Given the description of an element on the screen output the (x, y) to click on. 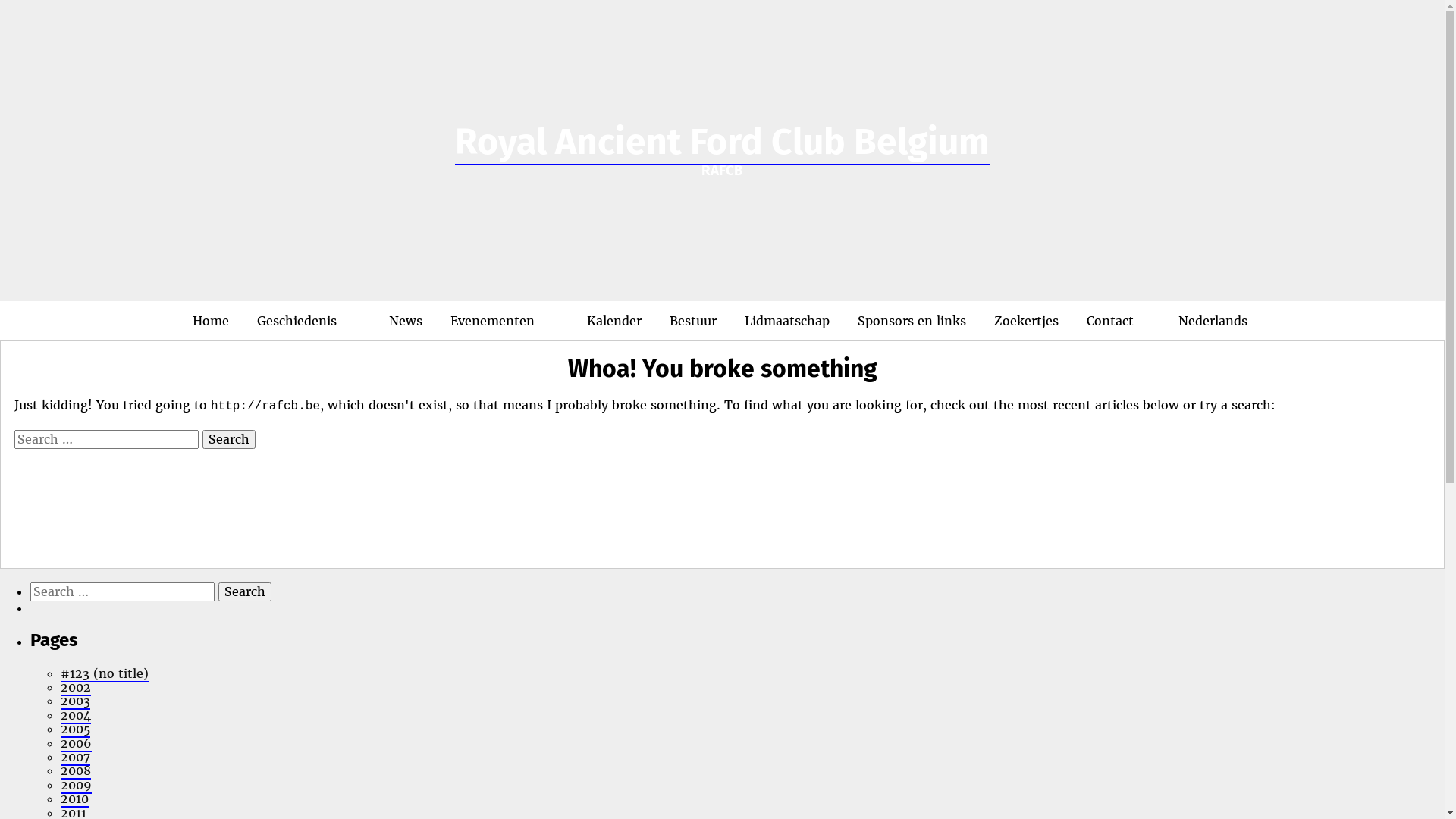
Zoekertjes Element type: text (1026, 320)
Sponsors en links Element type: text (911, 320)
Evenementen Element type: text (504, 320)
2004 Element type: text (75, 715)
2009 Element type: text (75, 785)
Search Element type: text (228, 438)
Home Element type: text (210, 320)
Geschiedenis Element type: text (308, 320)
2003 Element type: text (75, 701)
2006 Element type: text (75, 743)
Bestuur Element type: text (692, 320)
Kalender Element type: text (613, 320)
2008 Element type: text (75, 770)
2002 Element type: text (75, 687)
#123 (no title) Element type: text (104, 673)
2007 Element type: text (75, 757)
Lidmaatschap Element type: text (786, 320)
Contact Element type: text (1109, 320)
Royal Ancient Ford Club Belgium Element type: text (722, 142)
Search Element type: text (244, 591)
2005 Element type: text (75, 729)
News Element type: text (405, 320)
Nederlands Element type: text (1204, 320)
2010 Element type: text (74, 798)
